Given the description of an element on the screen output the (x, y) to click on. 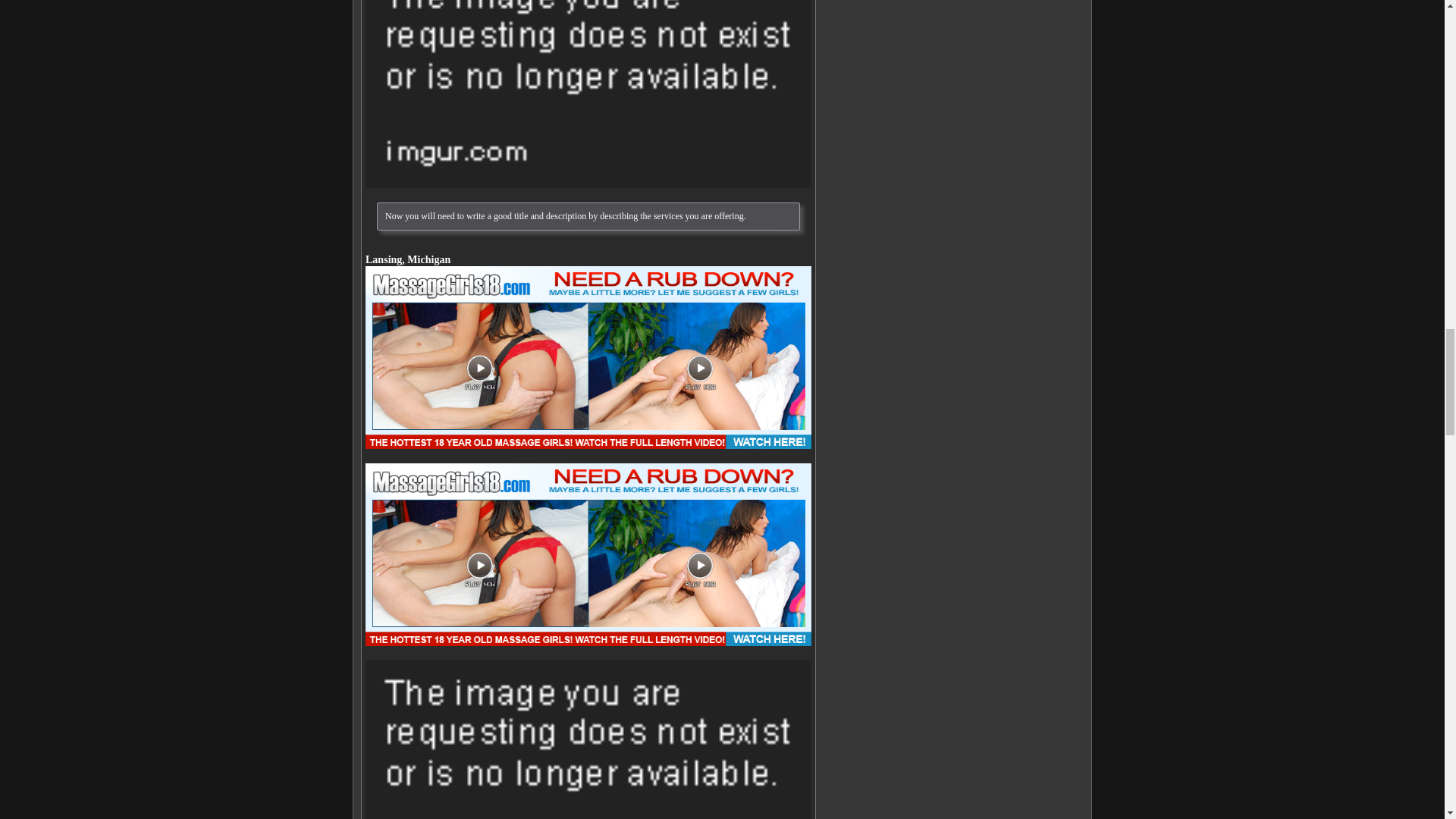
Kensington ts hailey Transgender porn (587, 554)
Kensington ts hailey Transgender porn (587, 94)
Kensington ts hailey Transgender porn (587, 739)
Kensington ts hailey Lansing, Michigan (587, 357)
